Given the description of an element on the screen output the (x, y) to click on. 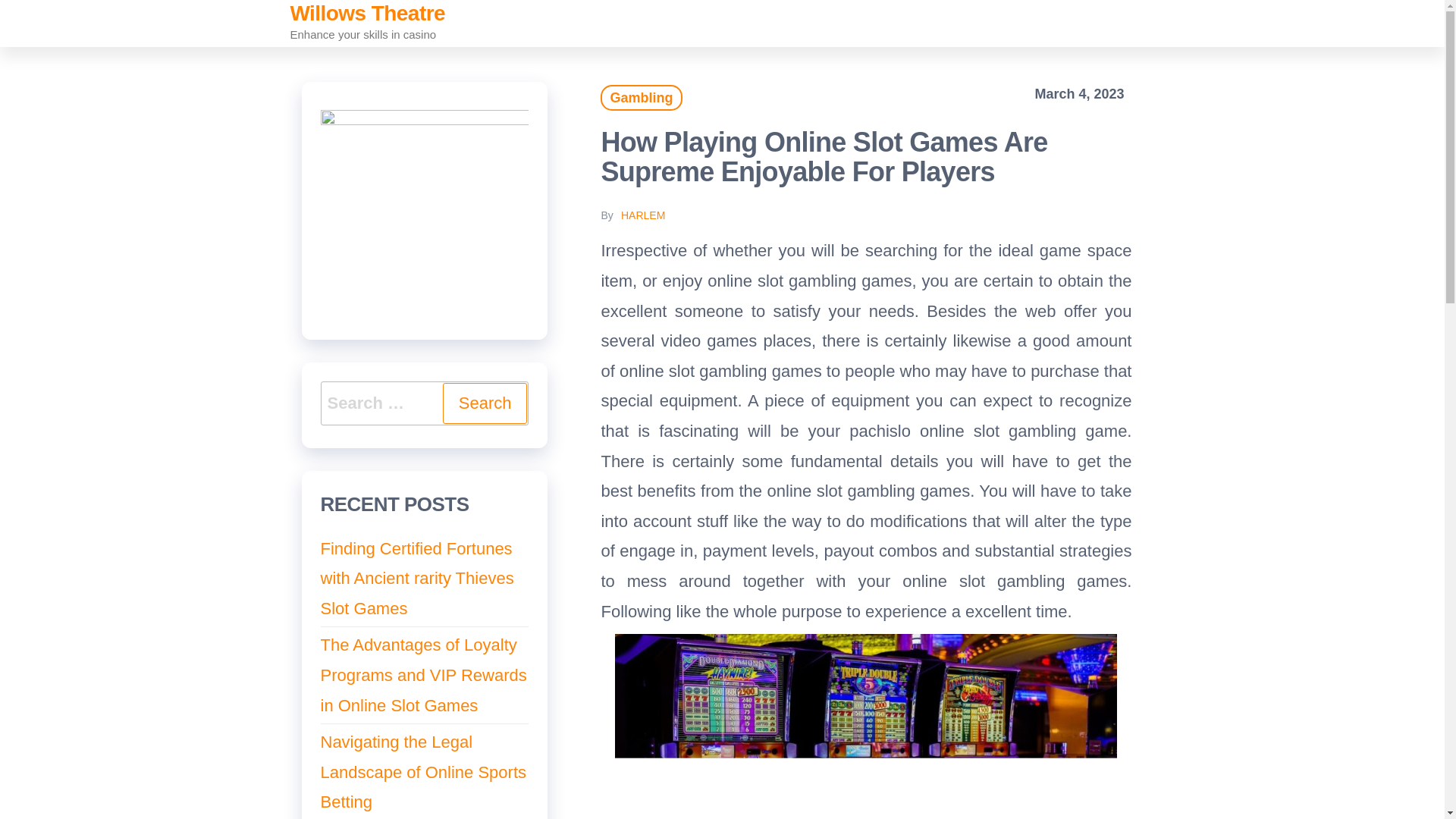
Willows Theatre (367, 13)
Search (484, 403)
Search (484, 403)
HARLEM (643, 215)
Gambling (640, 97)
Navigating the Legal Landscape of Online Sports Betting (422, 771)
Search (484, 403)
